Given the description of an element on the screen output the (x, y) to click on. 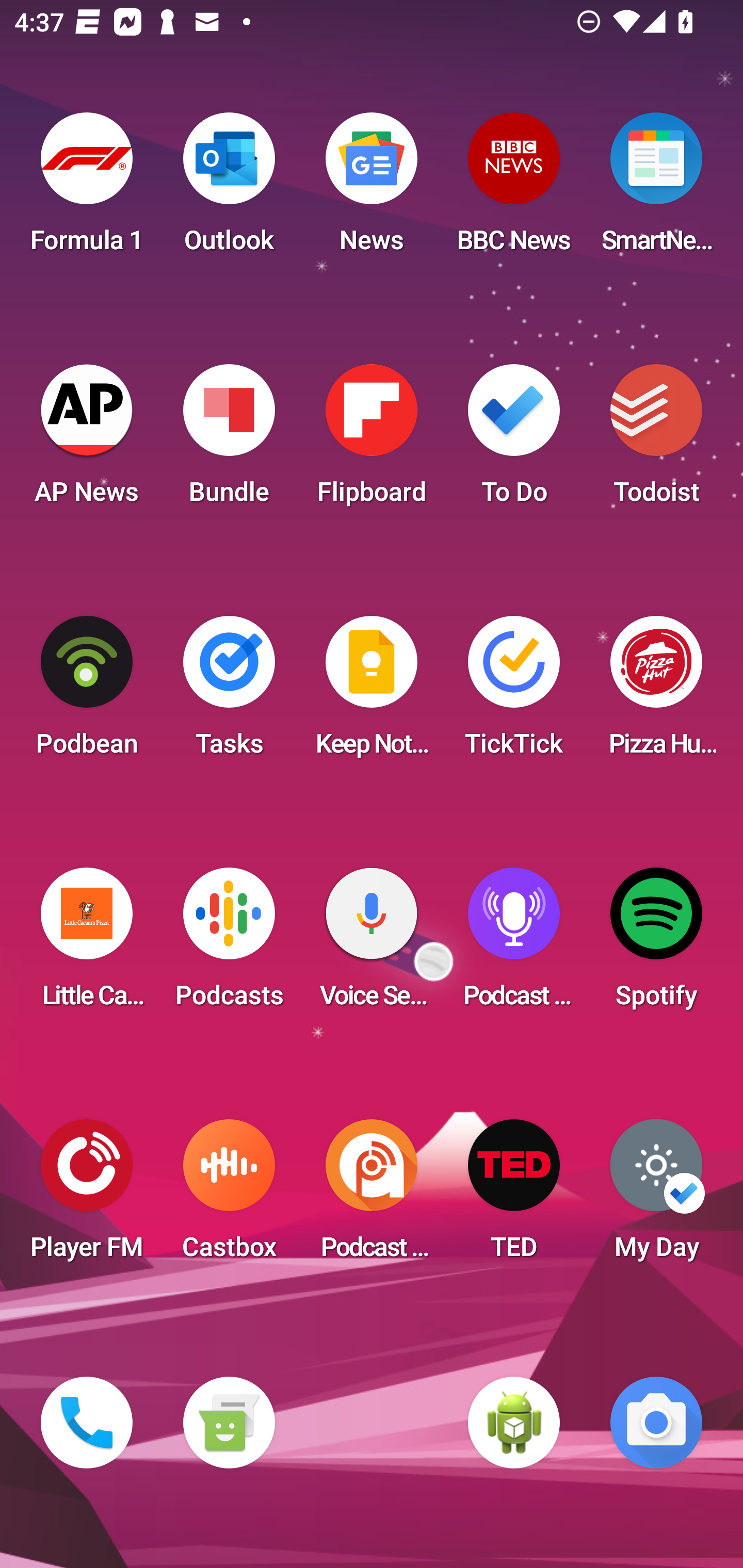
Formula 1 (86, 188)
Outlook (228, 188)
News (371, 188)
BBC News (513, 188)
SmartNews (656, 188)
AP News (86, 440)
Bundle (228, 440)
Flipboard (371, 440)
To Do (513, 440)
Todoist (656, 440)
Podbean (86, 692)
Tasks (228, 692)
Keep Notes (371, 692)
TickTick (513, 692)
Pizza Hut HK & Macau (656, 692)
Little Caesars Pizza (86, 943)
Podcasts (228, 943)
Voice Search (371, 943)
Podcast Player (513, 943)
Spotify (656, 943)
Player FM (86, 1195)
Castbox (228, 1195)
Podcast Addict (371, 1195)
TED (513, 1195)
My Day (656, 1195)
Phone (86, 1422)
Messaging (228, 1422)
WebView Browser Tester (513, 1422)
Camera (656, 1422)
